Given the description of an element on the screen output the (x, y) to click on. 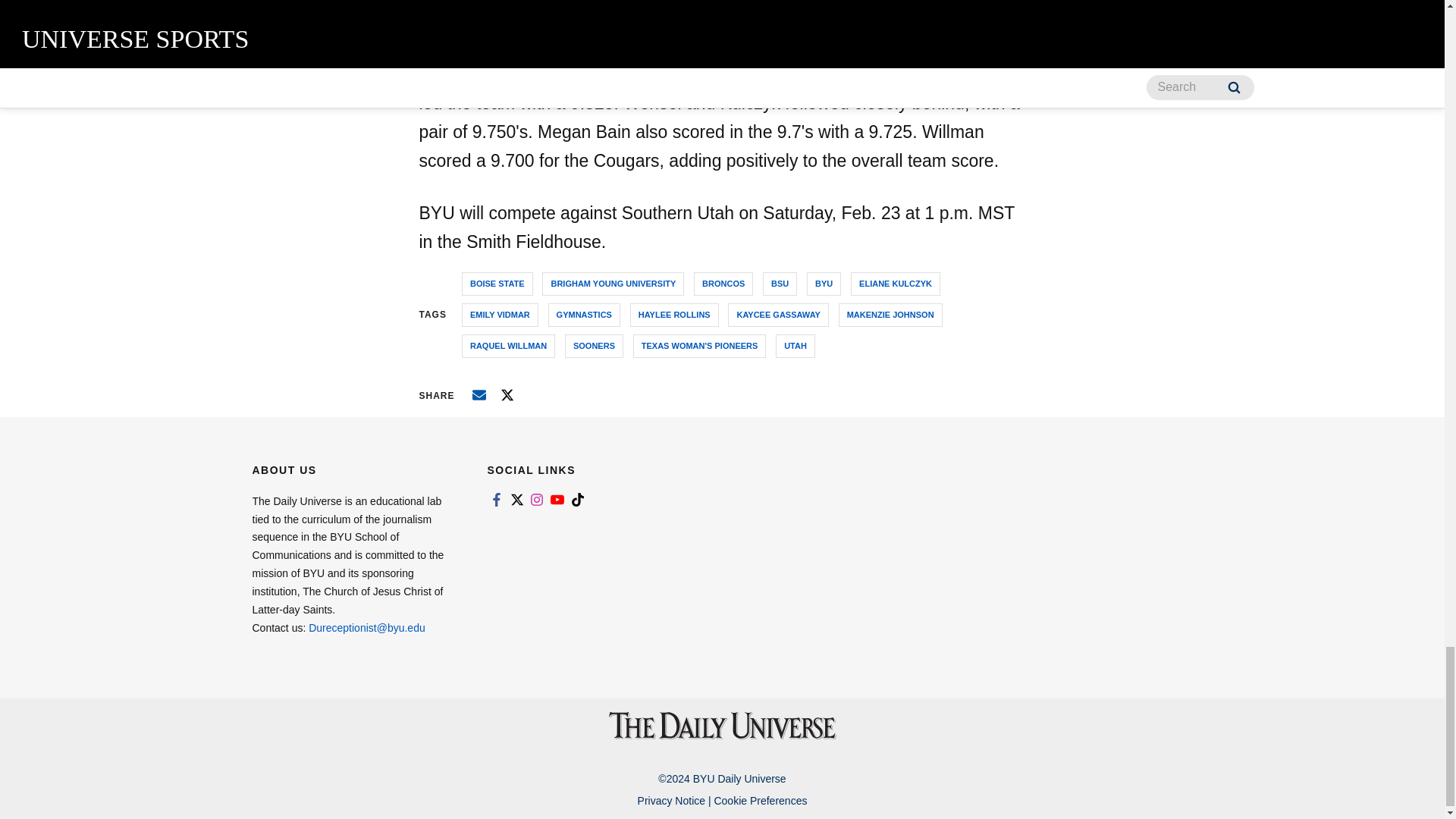
KAYCEE GASSAWAY (778, 314)
BOISE STATE (496, 283)
ELIANE KULCZYK (895, 283)
GYMNASTICS (584, 314)
BRIGHAM YOUNG UNIVERSITY (612, 283)
BRONCOS (723, 283)
TEXAS WOMAN'S PIONEERS (700, 345)
MAKENZIE JOHNSON (890, 314)
BYU (823, 283)
SOONERS (593, 345)
